Given the description of an element on the screen output the (x, y) to click on. 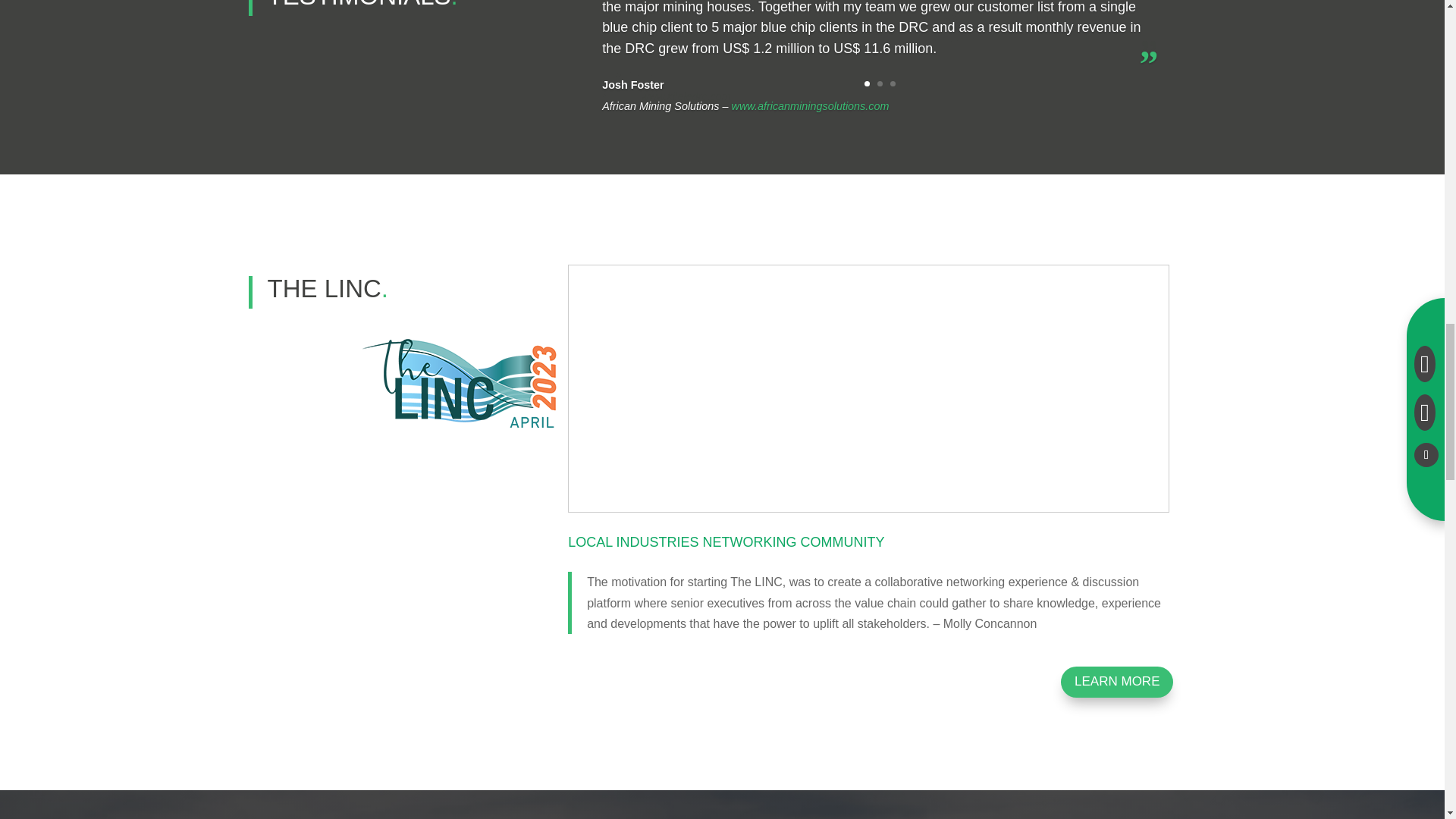
3 (892, 83)
linc-web (461, 382)
www.kileledrc.com (685, 96)
LEARN MORE (1117, 681)
